Given the description of an element on the screen output the (x, y) to click on. 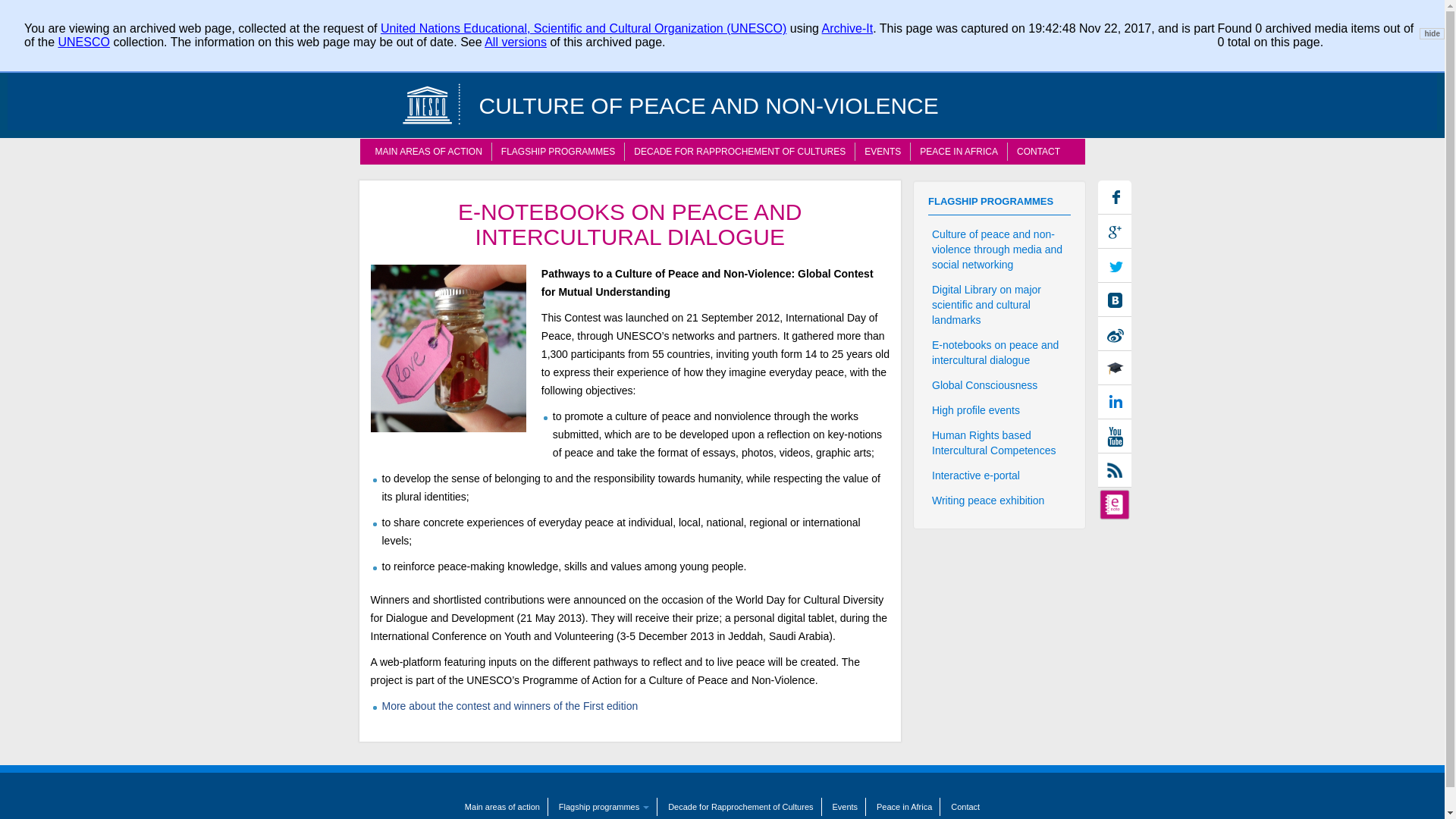
COUNTRIES (694, 51)
Home (432, 102)
Home (698, 96)
JOIN US (913, 51)
DECADE FOR RAPPROCHEMENT OF CULTURES (739, 151)
Staff (1050, 20)
E-notebooks on peace and intercultural dialogue (373, 20)
Main areas of action (427, 151)
FLAGSHIP PROGRAMMES (557, 151)
UNESCO (83, 42)
All versions (515, 42)
CULTURE OF PEACE AND NON-VIOLENCE (698, 96)
UNESCO.org (910, 20)
RESOURCES (1010, 51)
